Given the description of an element on the screen output the (x, y) to click on. 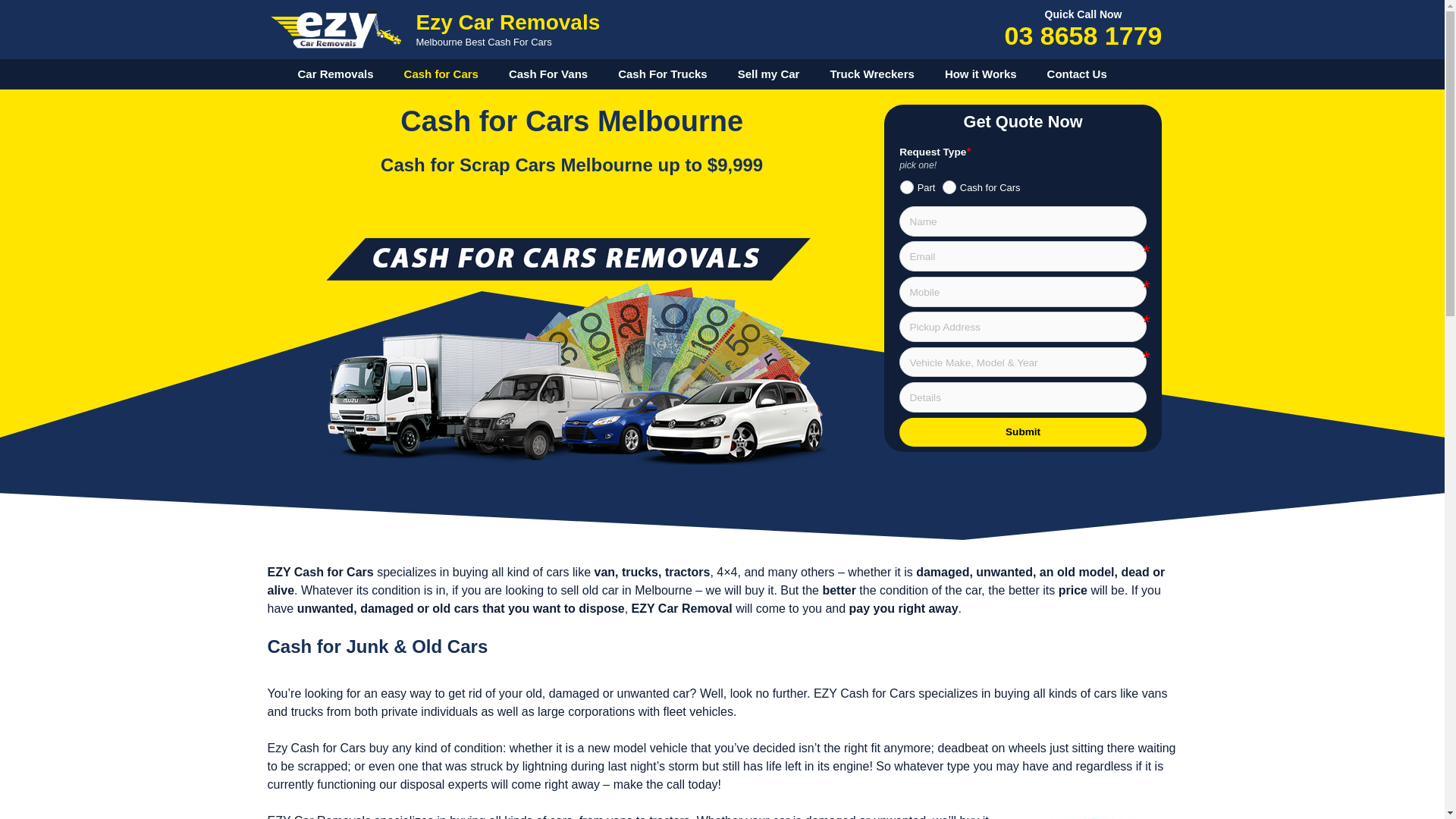
Cash for Cars Element type: text (441, 74)
Cash For Trucks Element type: text (662, 74)
Cash for Cars Melbourne Element type: hover (571, 348)
Ezy Car Removals Element type: text (507, 22)
Truck Wreckers Element type: text (871, 74)
Car Removals Element type: text (335, 74)
Cash For Vans Element type: text (547, 74)
Submit Element type: text (1022, 431)
Sell my Car Element type: text (768, 74)
How it Works Element type: text (980, 74)
sell old car in Melbourne Element type: text (625, 589)
EZY Car Removal Element type: text (681, 608)
03 8658 1779 Element type: text (1083, 35)
old cars Element type: text (455, 608)
Contact Us Element type: text (1077, 74)
